Given the description of an element on the screen output the (x, y) to click on. 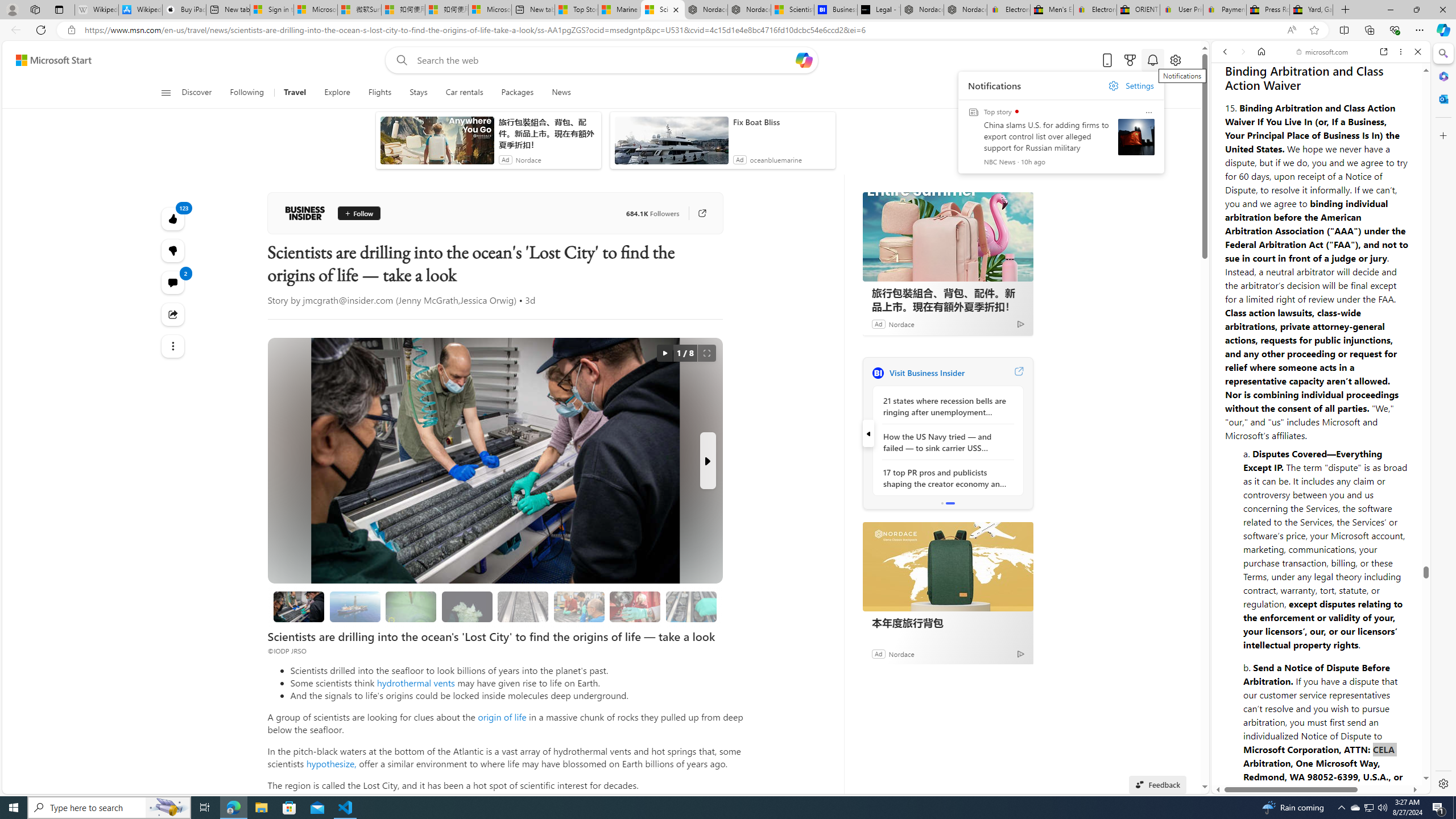
Open Copilot (803, 59)
Class: at-item (172, 345)
Class: button-glyph (165, 92)
Workspaces (34, 9)
Open in New Tab (1321, 768)
Advertise (1335, 751)
Legal (1291, 751)
View comments 2 Comment (172, 282)
See more (172, 345)
Car rentals (464, 92)
